Given the description of an element on the screen output the (x, y) to click on. 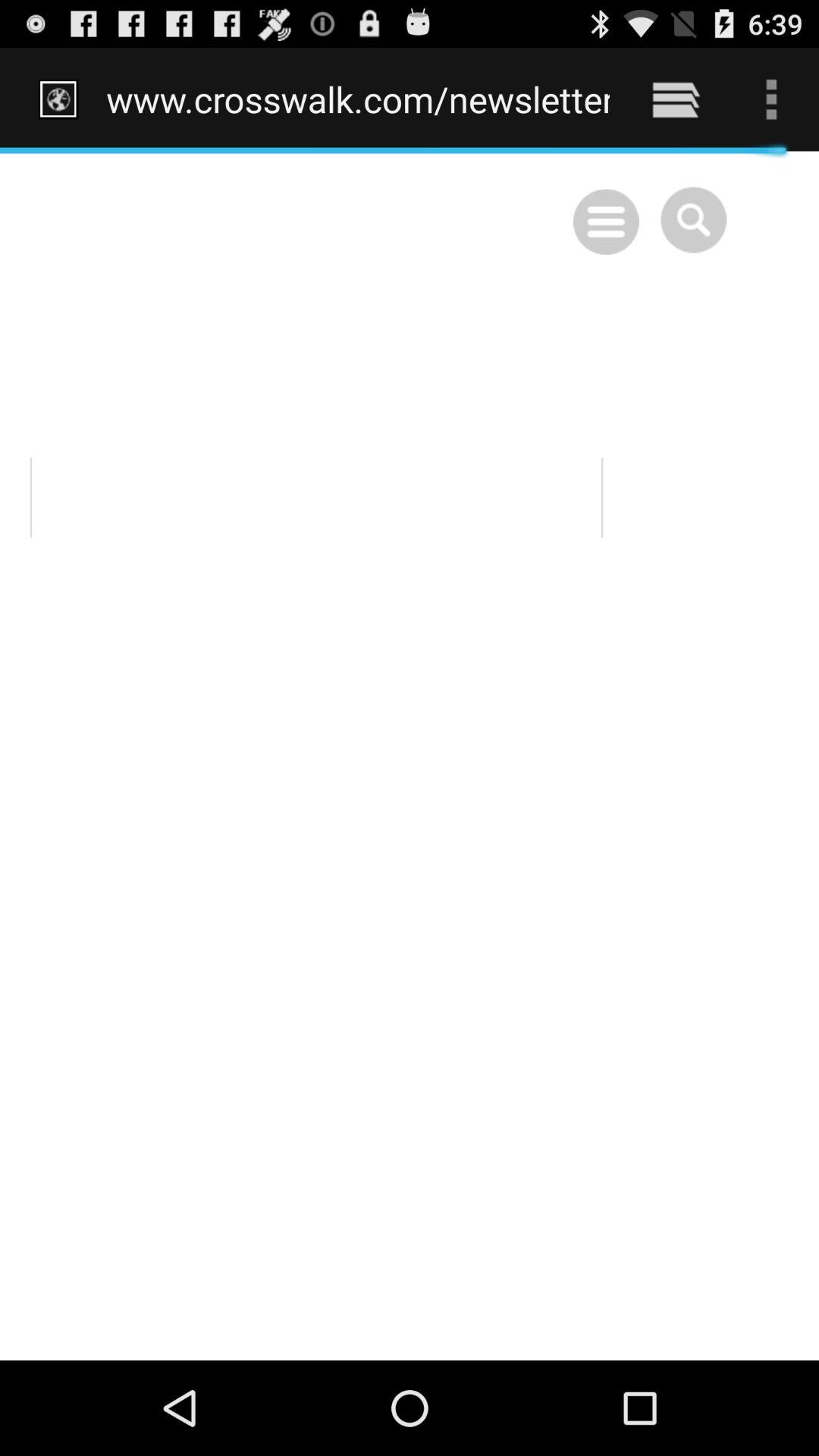
choose item to the right of www crosswalk com icon (675, 99)
